Given the description of an element on the screen output the (x, y) to click on. 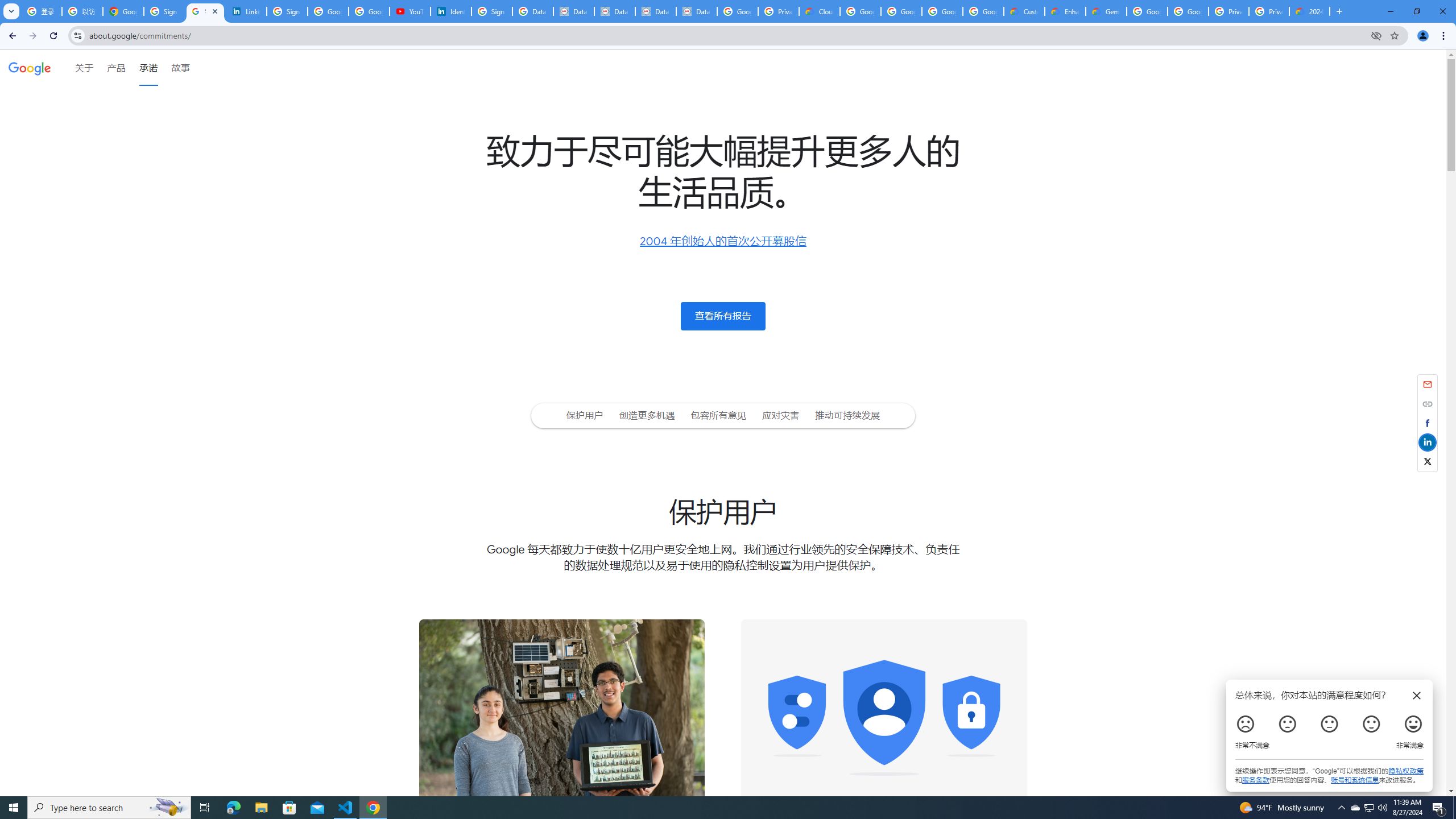
Google (29, 67)
Enhanced Support | Google Cloud (1064, 11)
Google Workspace - Specific Terms (983, 11)
Data Privacy Framework (573, 11)
Sign in - Google Accounts (163, 11)
Data Privacy Framework (696, 11)
